Given the description of an element on the screen output the (x, y) to click on. 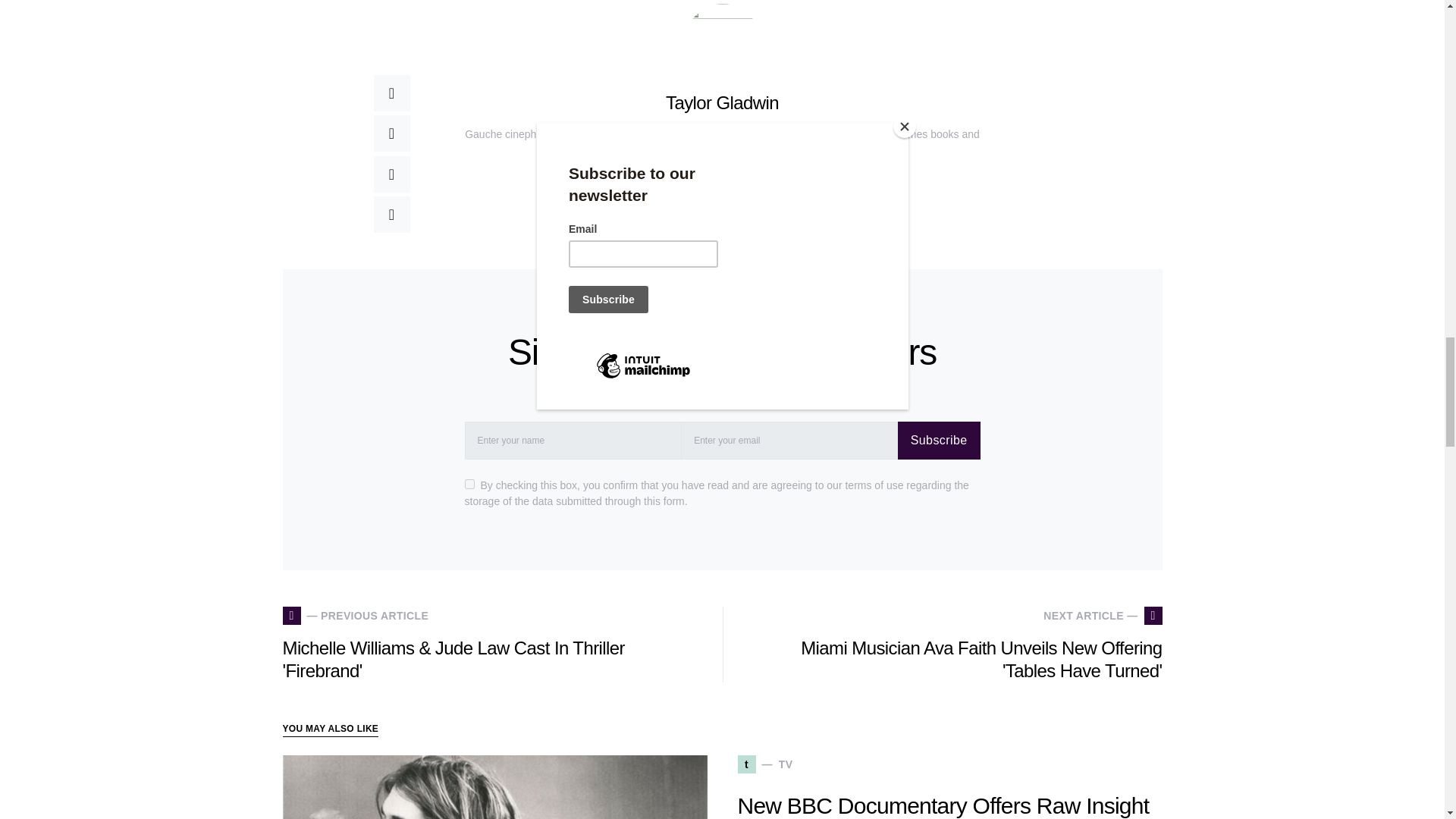
on (469, 483)
